Given the description of an element on the screen output the (x, y) to click on. 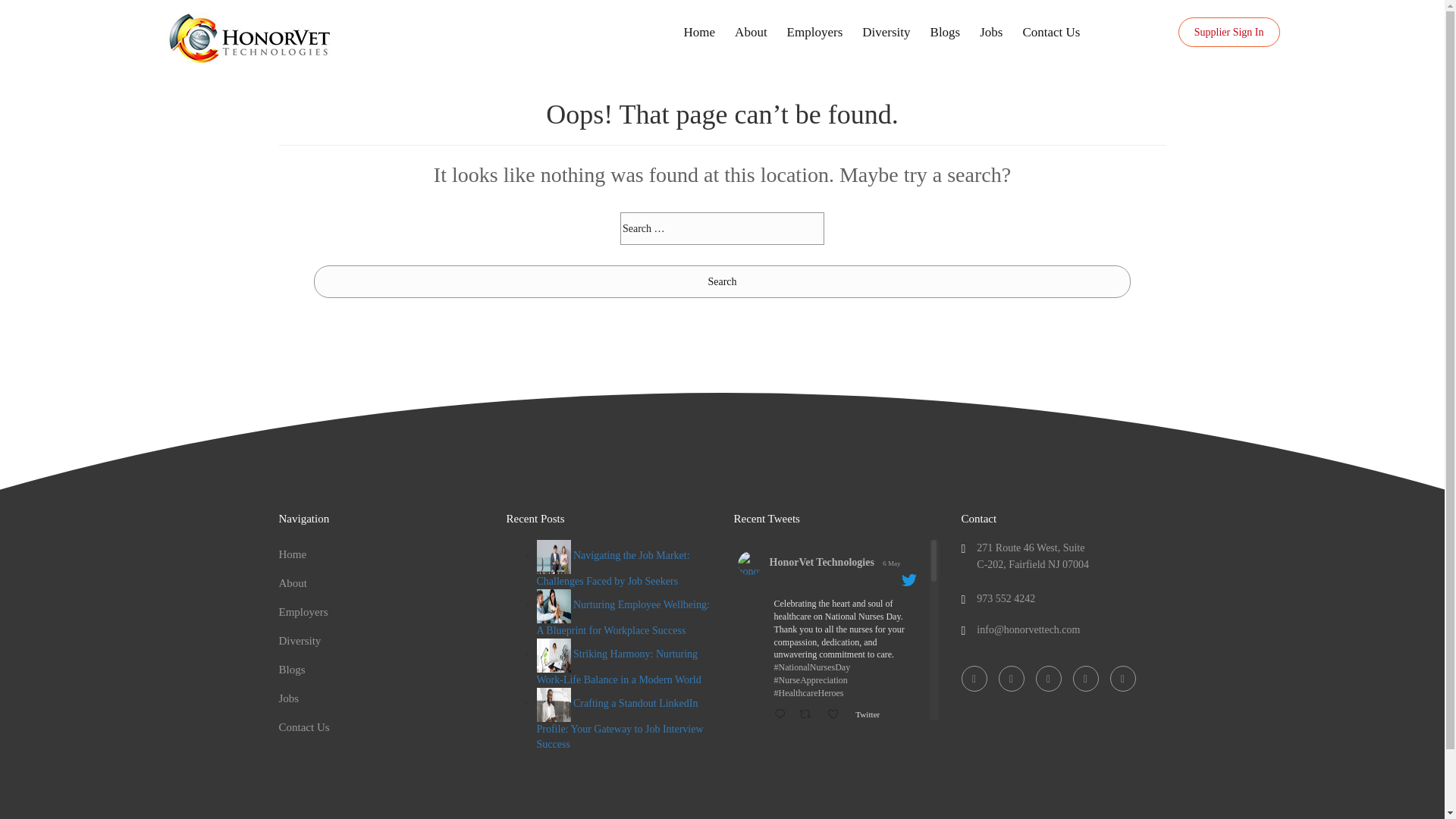
6 May (890, 563)
HonorVet Technologies (249, 39)
Blogs (945, 32)
About (293, 582)
Diversity (300, 640)
Employers (304, 612)
HonorVet Technologies (820, 562)
Search (721, 281)
Supplier Sign In (1228, 31)
Contact Us (304, 727)
Twitter 1787607860127400261 (870, 714)
Like on Twitter 1787607860127400261 (837, 714)
About (751, 32)
Navigating the Job Market: Challenges Faced by Job Seekers (613, 567)
Search (721, 281)
